Given the description of an element on the screen output the (x, y) to click on. 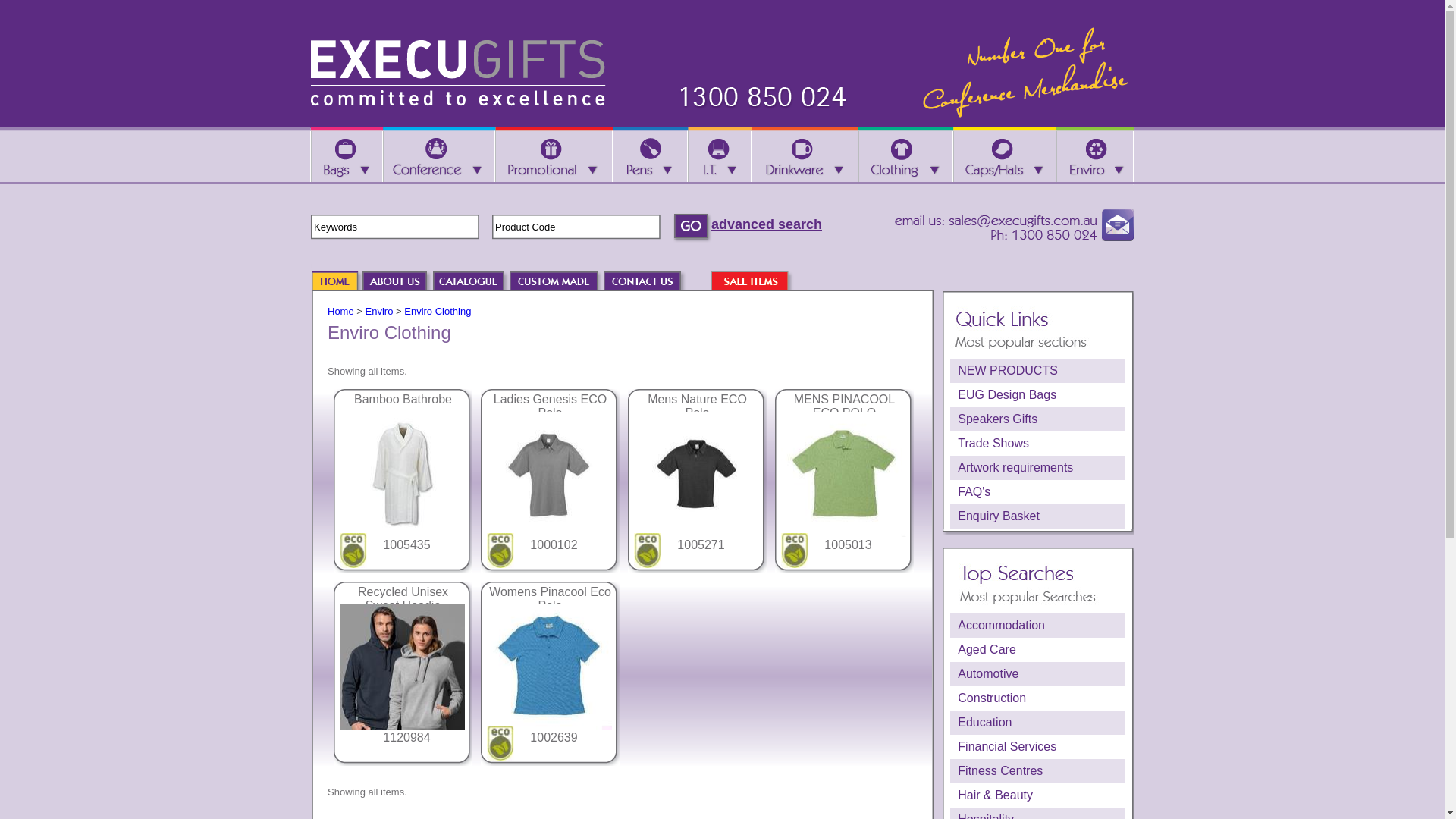
advanced search Element type: text (766, 224)
Trade Shows Element type: text (1037, 443)
Financial Services Element type: text (1037, 746)
Womens Pinacool Eco Polo Element type: text (550, 598)
Enviro Element type: text (379, 310)
NEW PRODUCTS Element type: text (1037, 370)
CATALOGUE Element type: text (475, 282)
Construction Element type: text (1037, 698)
Mens Nature ECO Polo Element type: text (696, 405)
Education Element type: text (1037, 722)
Enquiry Basket Element type: text (1037, 516)
I.T. Element type: text (719, 156)
Enviro Element type: text (1094, 156)
Bags Element type: text (346, 156)
MENS PINACOOL ECO POLO Element type: text (843, 405)
SALE ITEMS Element type: text (757, 282)
Ladies Genesis ECO Polo Element type: text (549, 405)
FAQ's Element type: text (1037, 492)
Bamboo Bathrobe Element type: text (402, 398)
EUG Design Bags Element type: text (1037, 394)
CUSTOM MADE Element type: text (561, 282)
Enviro Clothing Element type: text (437, 310)
Drinkware Element type: text (804, 156)
Hair & Beauty Element type: text (1037, 795)
Home Element type: text (340, 310)
Recycled Unisex Sweat Hoodie Element type: text (402, 598)
Automotive Element type: text (1037, 674)
Pens Element type: text (650, 156)
CONTACT US Element type: text (649, 282)
Speakers Gifts Element type: text (1037, 419)
Artwork requirements Element type: text (1037, 467)
Accommodation Element type: text (1037, 625)
Caps/Hats Element type: text (1004, 156)
Conference Element type: text (438, 156)
Promotional Element type: text (553, 156)
ABOUT US Element type: text (396, 282)
HOME Element type: text (335, 282)
Fitness Centres Element type: text (1037, 771)
Clothing Element type: text (904, 156)
Aged Care Element type: text (1037, 649)
